Given the description of an element on the screen output the (x, y) to click on. 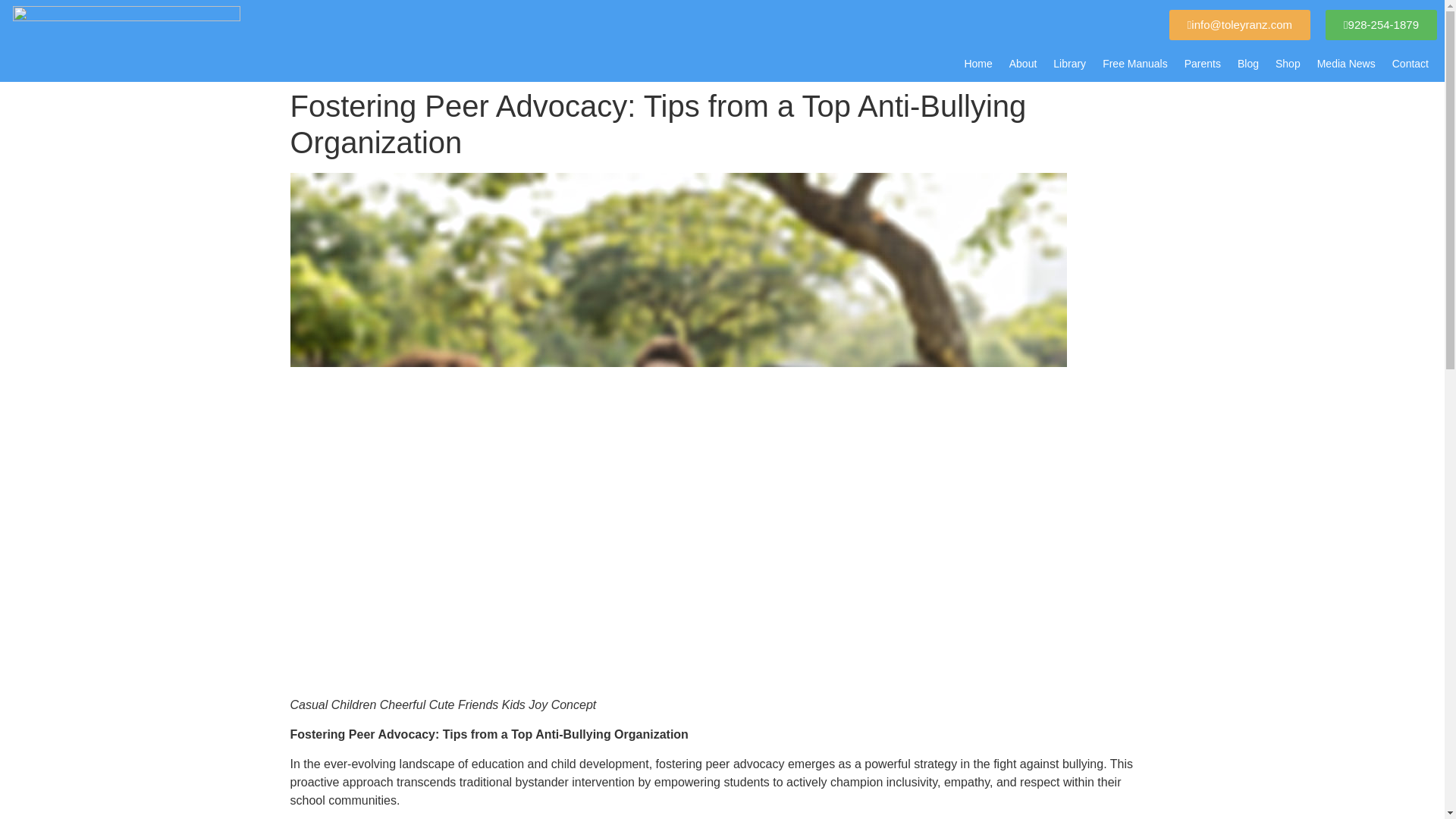
Home (977, 63)
Parents (1202, 63)
About (1023, 63)
Contact (1410, 63)
928-254-1879 (1380, 24)
Blog (1247, 63)
Shop (1287, 63)
Media News (1346, 63)
Free Manuals (1135, 63)
Library (1069, 63)
